Given the description of an element on the screen output the (x, y) to click on. 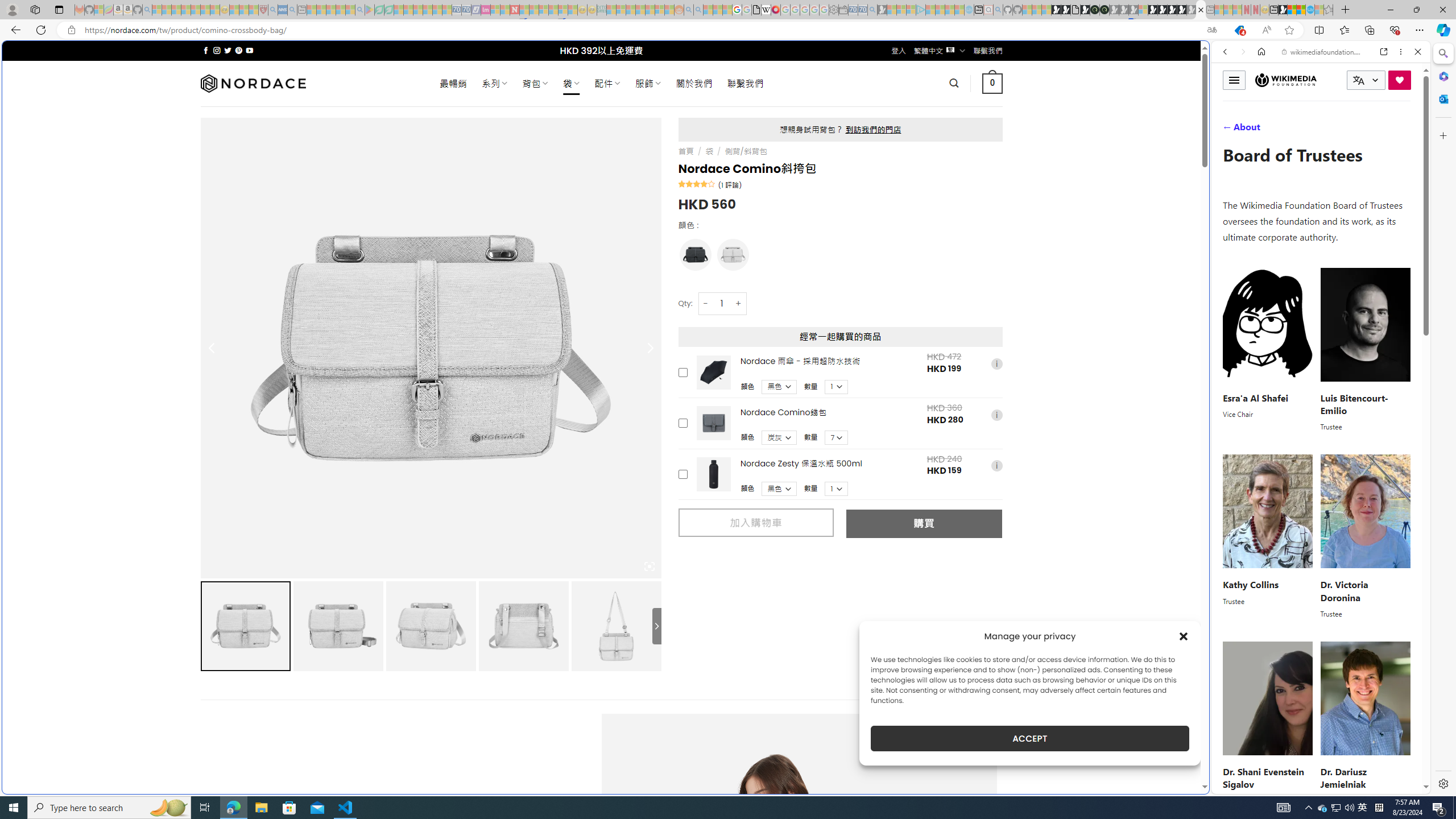
Search or enter web address (922, 108)
Victoria Doronina in 2021 (1365, 511)
Close split screen (1208, 57)
